Given the description of an element on the screen output the (x, y) to click on. 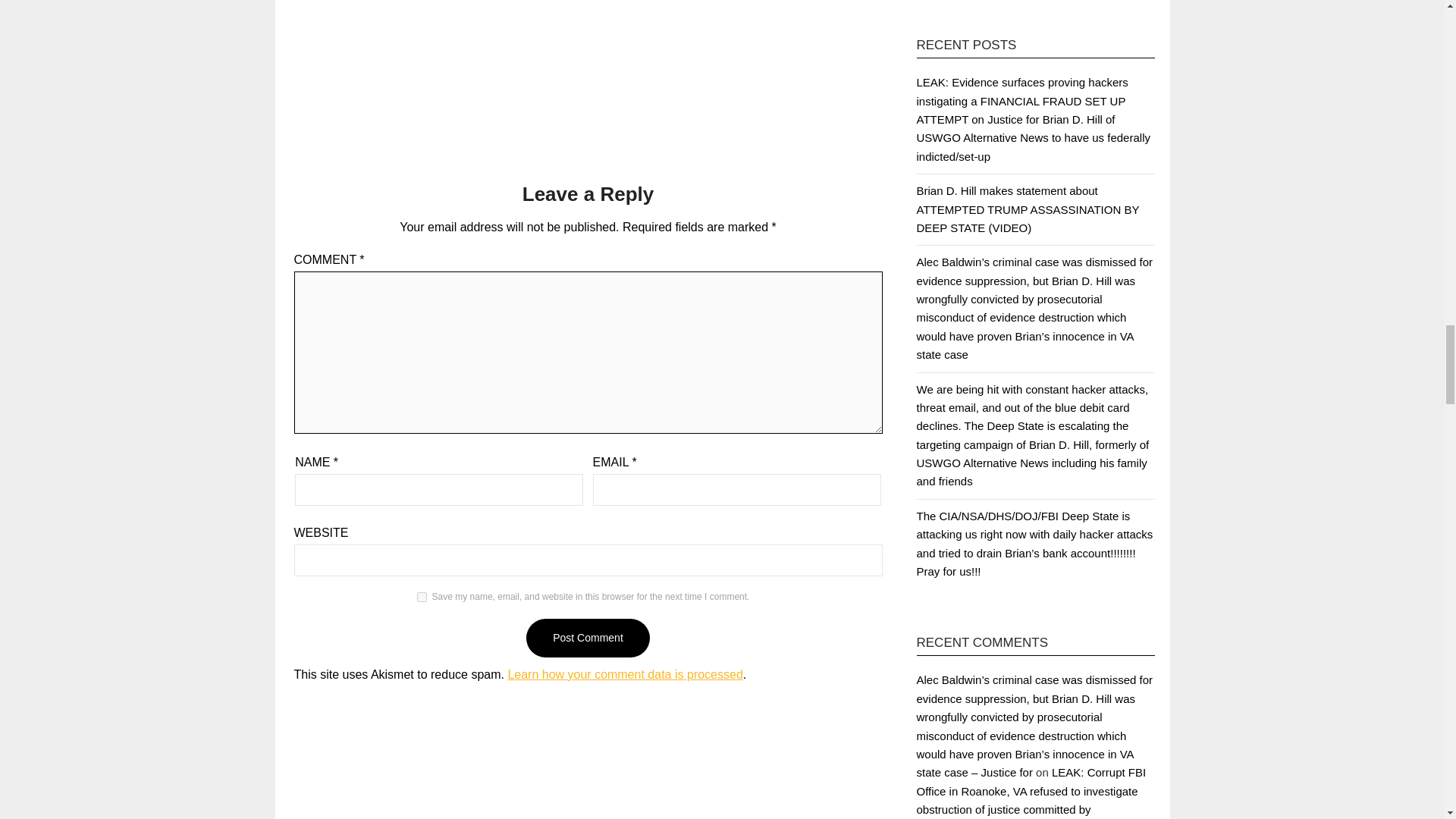
Post Comment (587, 638)
yes (421, 596)
